Given the description of an element on the screen output the (x, y) to click on. 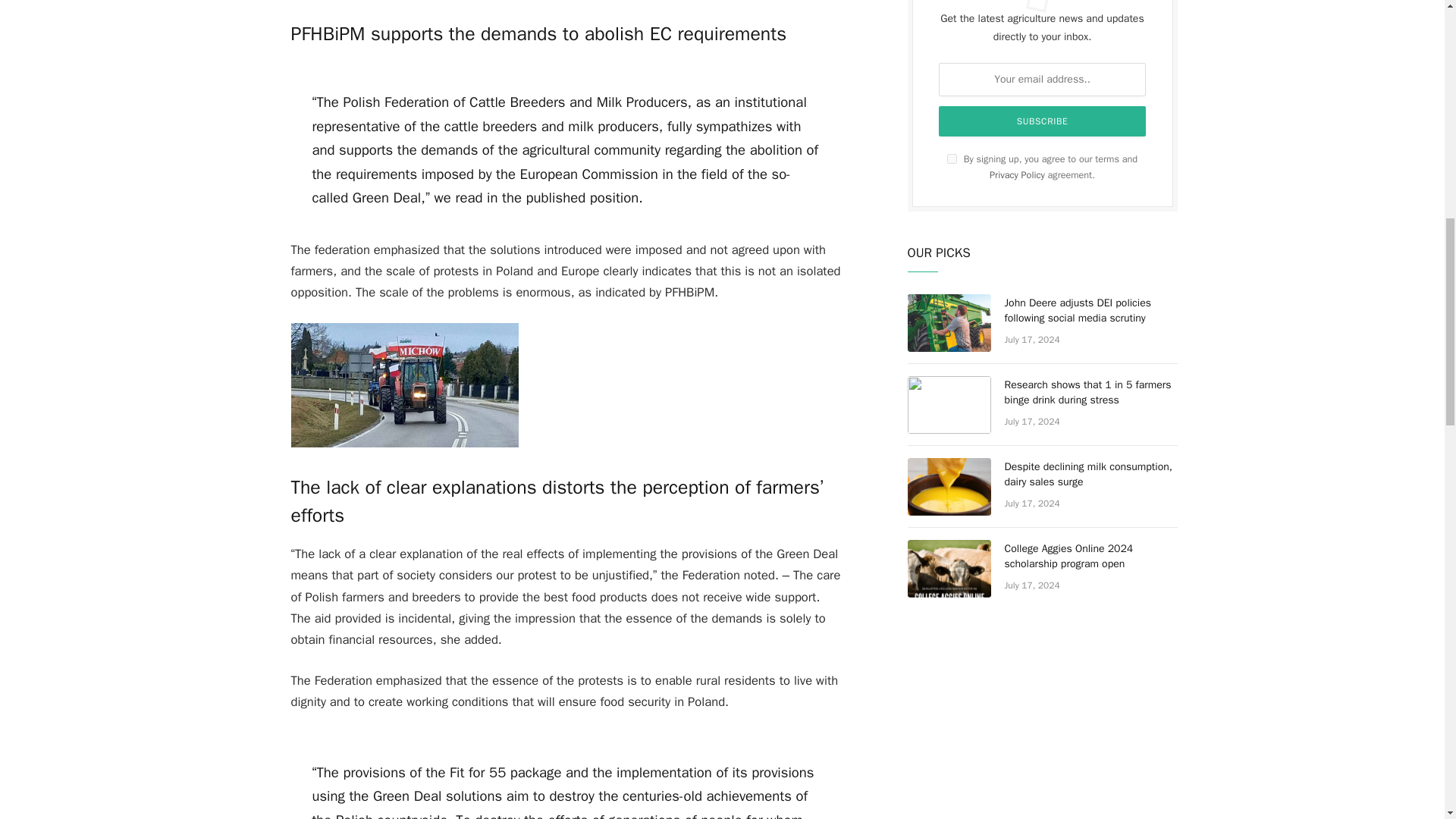
on (951, 158)
Subscribe (1043, 121)
